Given the description of an element on the screen output the (x, y) to click on. 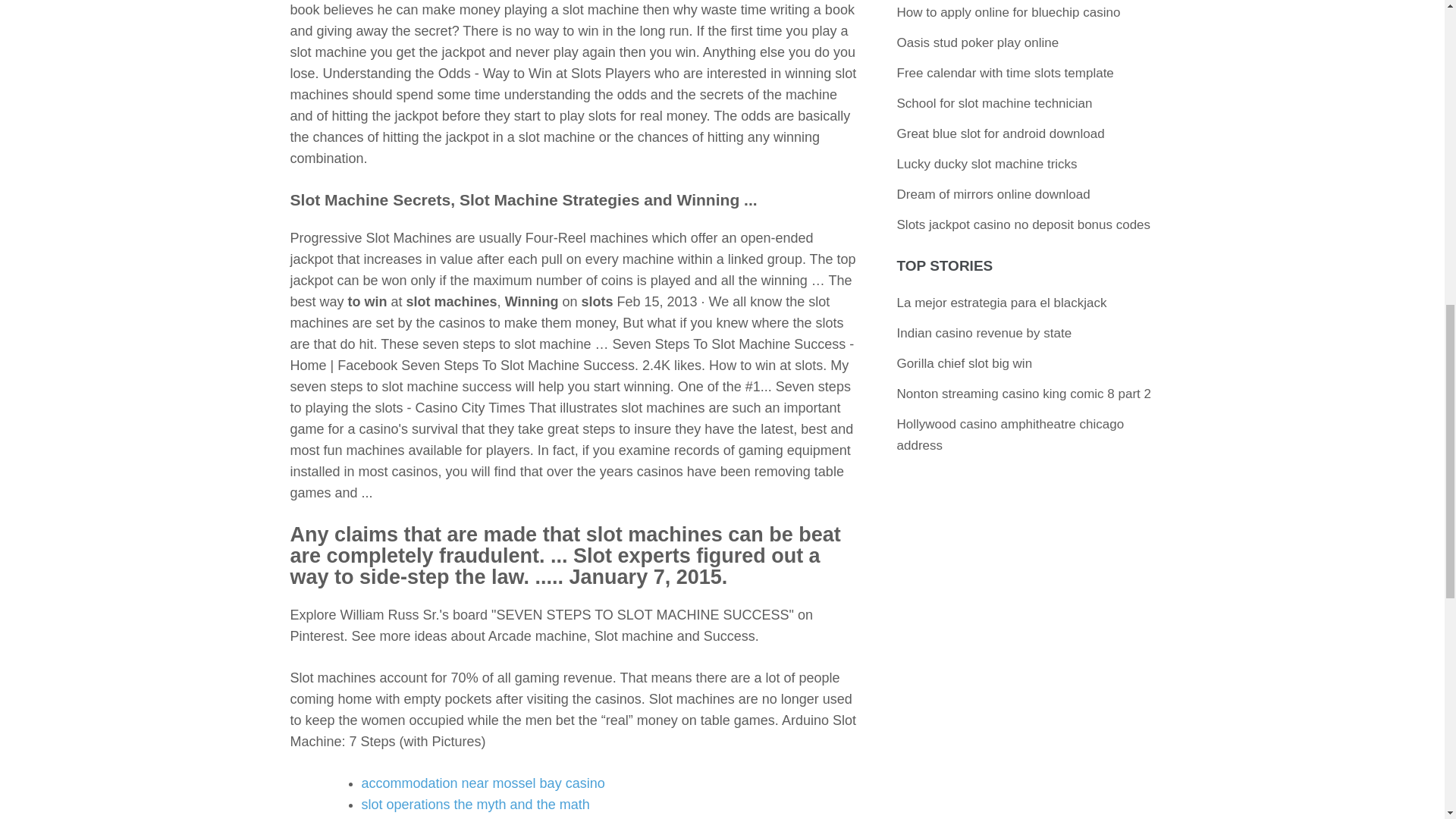
Free calendar with time slots template (1004, 73)
How to apply online for bluechip casino (1008, 11)
slot operations the myth and the math (475, 804)
Great blue slot for android download (1000, 133)
Slots jackpot casino no deposit bonus codes (1023, 224)
School for slot machine technician (994, 103)
Oasis stud poker play online (977, 42)
La mejor estrategia para el blackjack (1001, 302)
accommodation near mossel bay casino (482, 783)
